Given the description of an element on the screen output the (x, y) to click on. 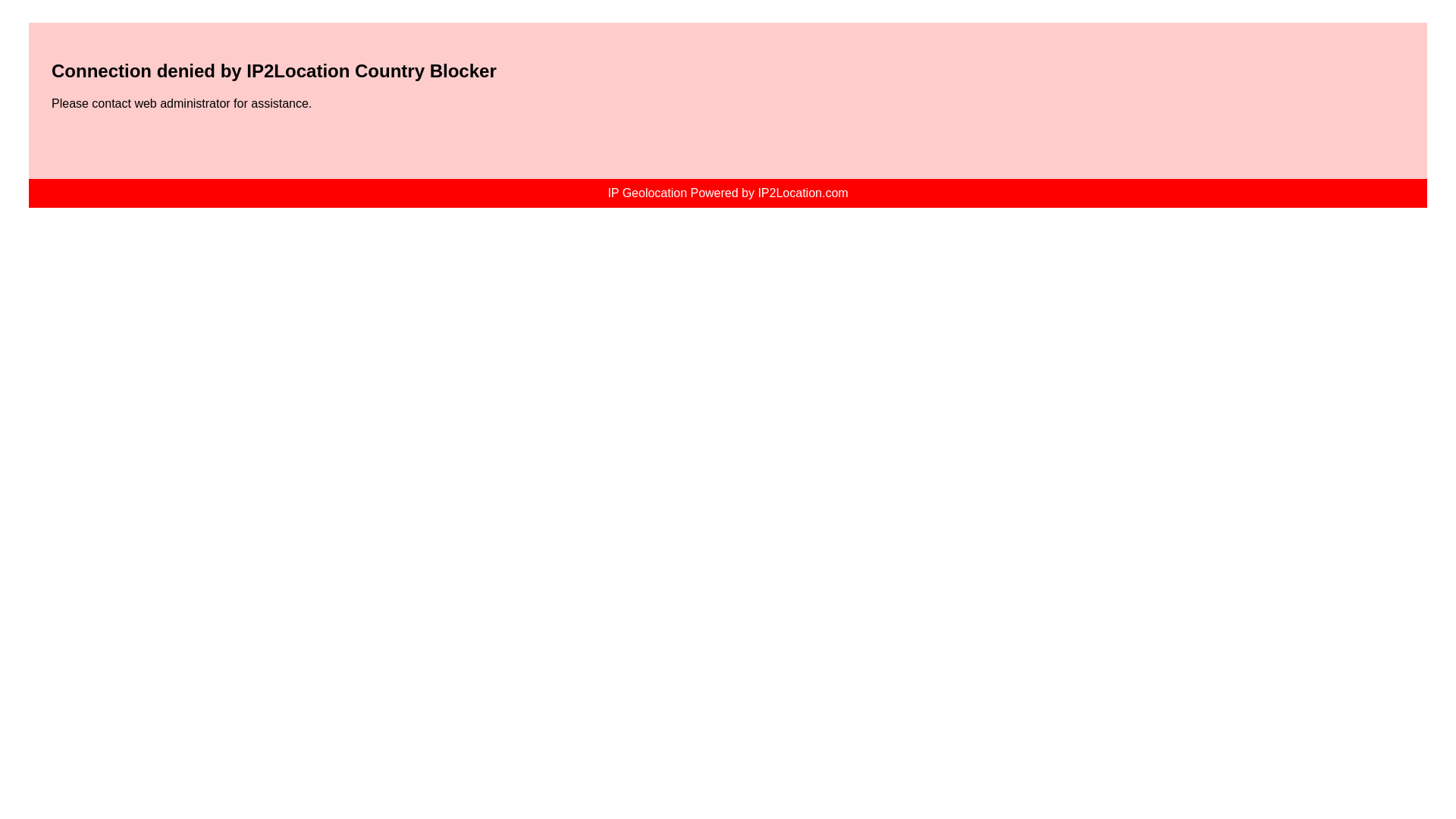
IP Geolocation Powered by IP2Location.com (727, 192)
